Given the description of an element on the screen output the (x, y) to click on. 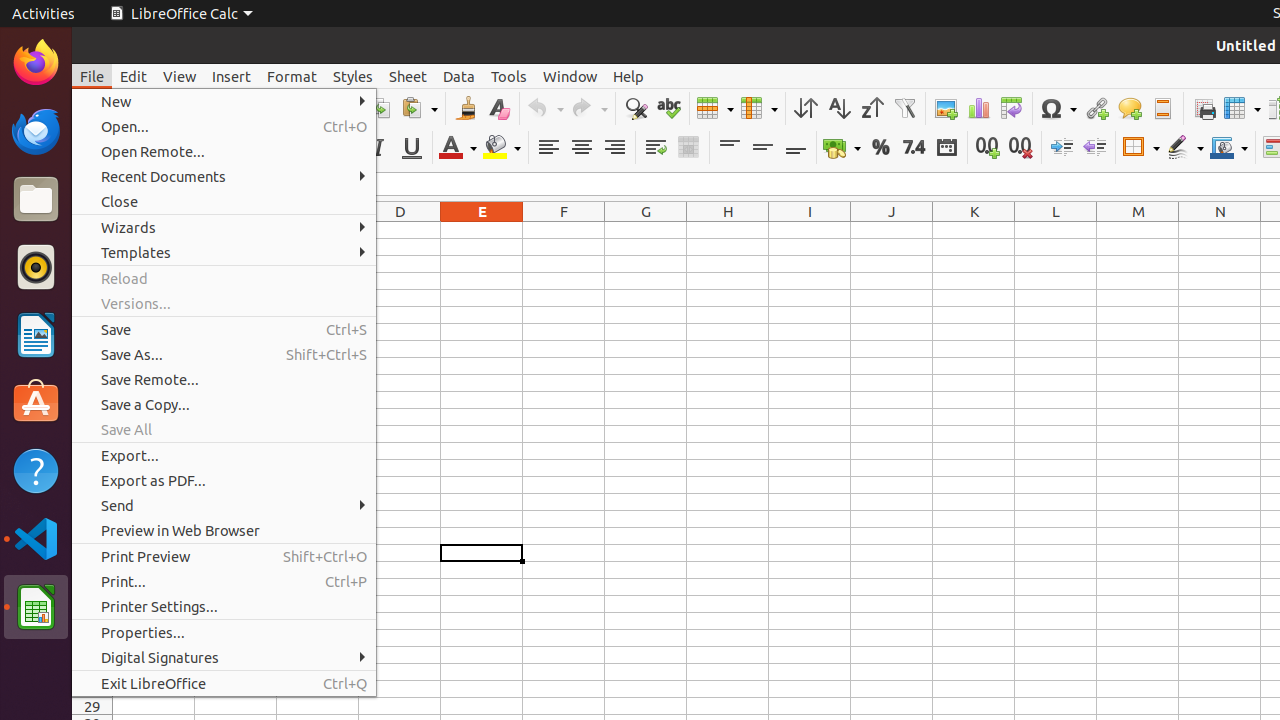
Row Element type: push-button (715, 108)
Templates Element type: menu (224, 252)
Underline Element type: push-button (411, 147)
Save Element type: menu-item (224, 329)
I1 Element type: table-cell (810, 230)
